Given the description of an element on the screen output the (x, y) to click on. 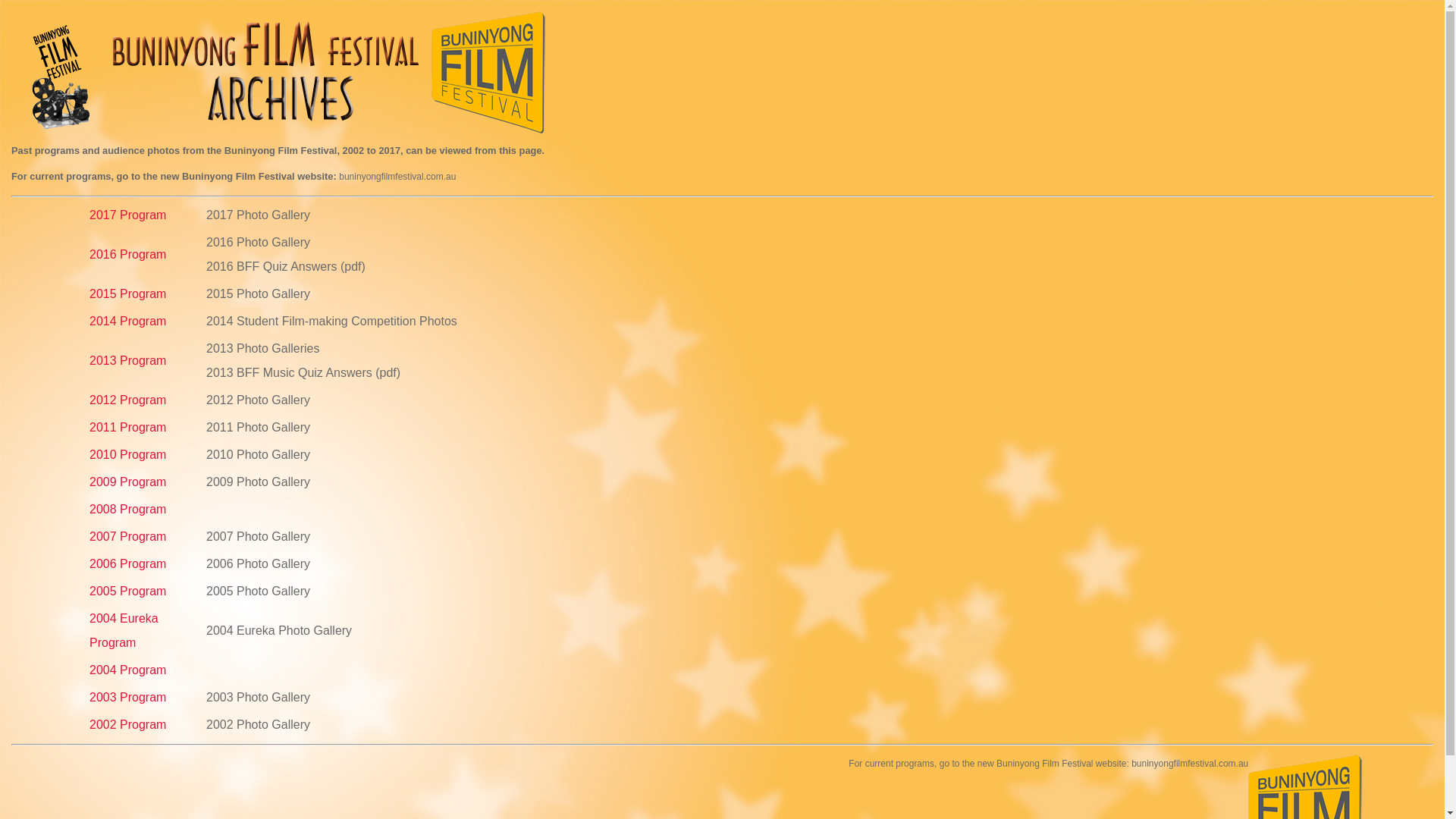
buninyongfilmfestival.com.au Element type: text (1189, 763)
2012 Program Element type: text (127, 399)
2007 Photo Gallery Element type: text (258, 536)
2016 BFF Quiz Answers (pdf) Element type: text (285, 266)
2002 Photo Gallery Element type: text (258, 724)
2009 Photo Gallery Element type: text (258, 481)
2008 Program Element type: text (127, 508)
2006 Program Element type: text (127, 563)
2011 Program Element type: text (127, 426)
2010 Program Element type: text (127, 454)
2003 Photo Gallery Element type: text (258, 696)
2013 Program Element type: text (127, 360)
2015 Photo Gallery Element type: text (258, 293)
2007 Program Element type: text (127, 536)
2004 Eureka Photo Gallery Element type: text (278, 630)
2005 Program Element type: text (127, 590)
2011 Photo Gallery Element type: text (258, 426)
2014 Student Film-making Competition Photos Element type: text (331, 320)
2004 Eureka Program Element type: text (123, 630)
2017 Program Element type: text (127, 214)
2009 Program Element type: text (127, 481)
buninyongfilmfestival.com.au Element type: text (396, 176)
2016 Photo Gallery Element type: text (258, 241)
2013 Photo Galleries Element type: text (262, 348)
2017 Photo Gallery Element type: text (258, 214)
2014 Program Element type: text (127, 320)
2010 Photo Gallery Element type: text (258, 454)
2006 Photo Gallery Element type: text (258, 563)
2016 Program Element type: text (127, 253)
2013 BFF Music Quiz Answers (pdf) Element type: text (303, 372)
2012 Photo Gallery Element type: text (258, 399)
2003 Program Element type: text (127, 696)
2015 Program Element type: text (127, 293)
2002 Program Element type: text (127, 724)
2004 Program Element type: text (127, 669)
2005 Photo Gallery Element type: text (258, 590)
